Given the description of an element on the screen output the (x, y) to click on. 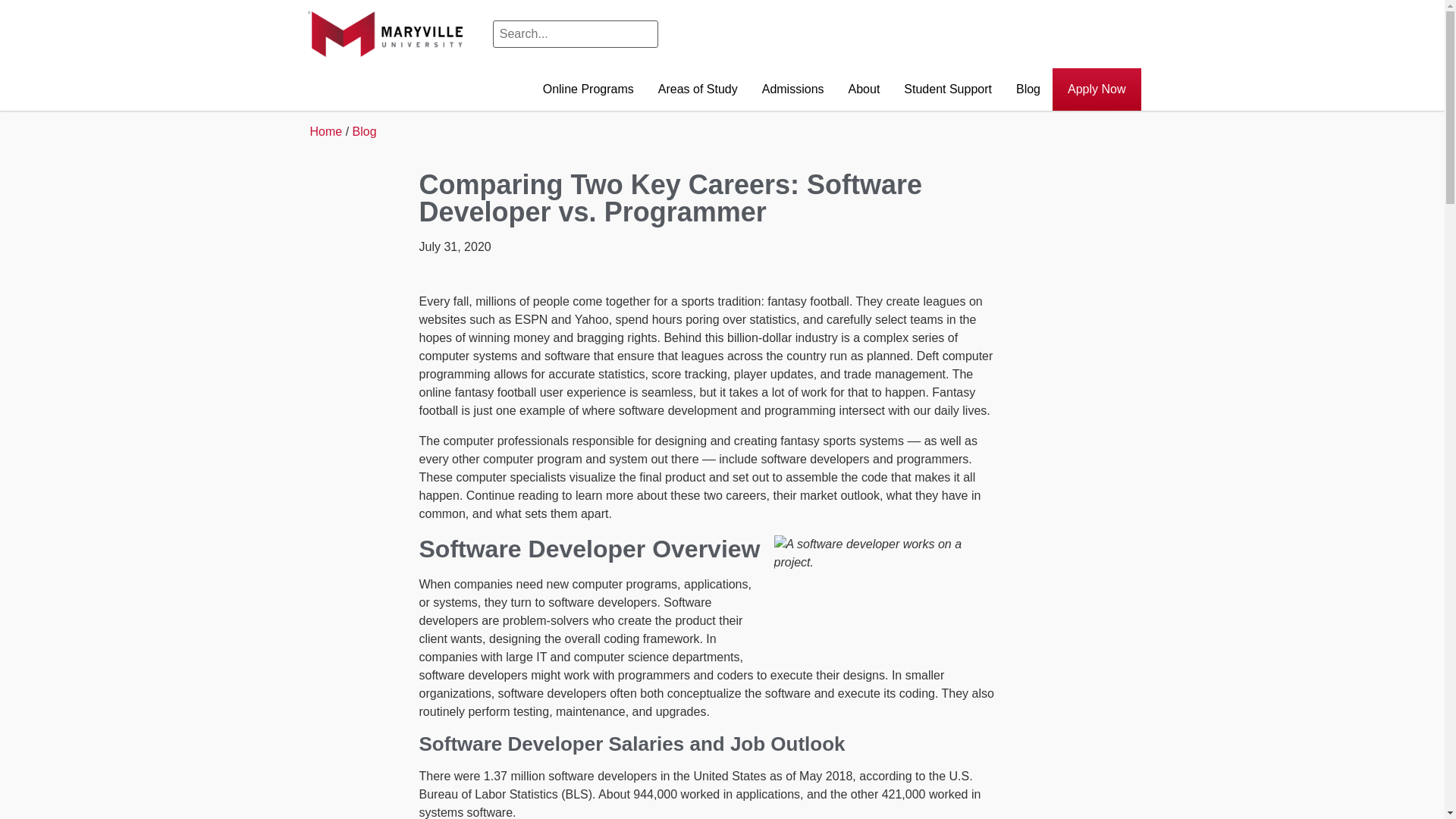
Areas of Study (697, 88)
Student Support (947, 88)
Online Programs (588, 88)
About (863, 88)
Admissions (792, 88)
